Given the description of an element on the screen output the (x, y) to click on. 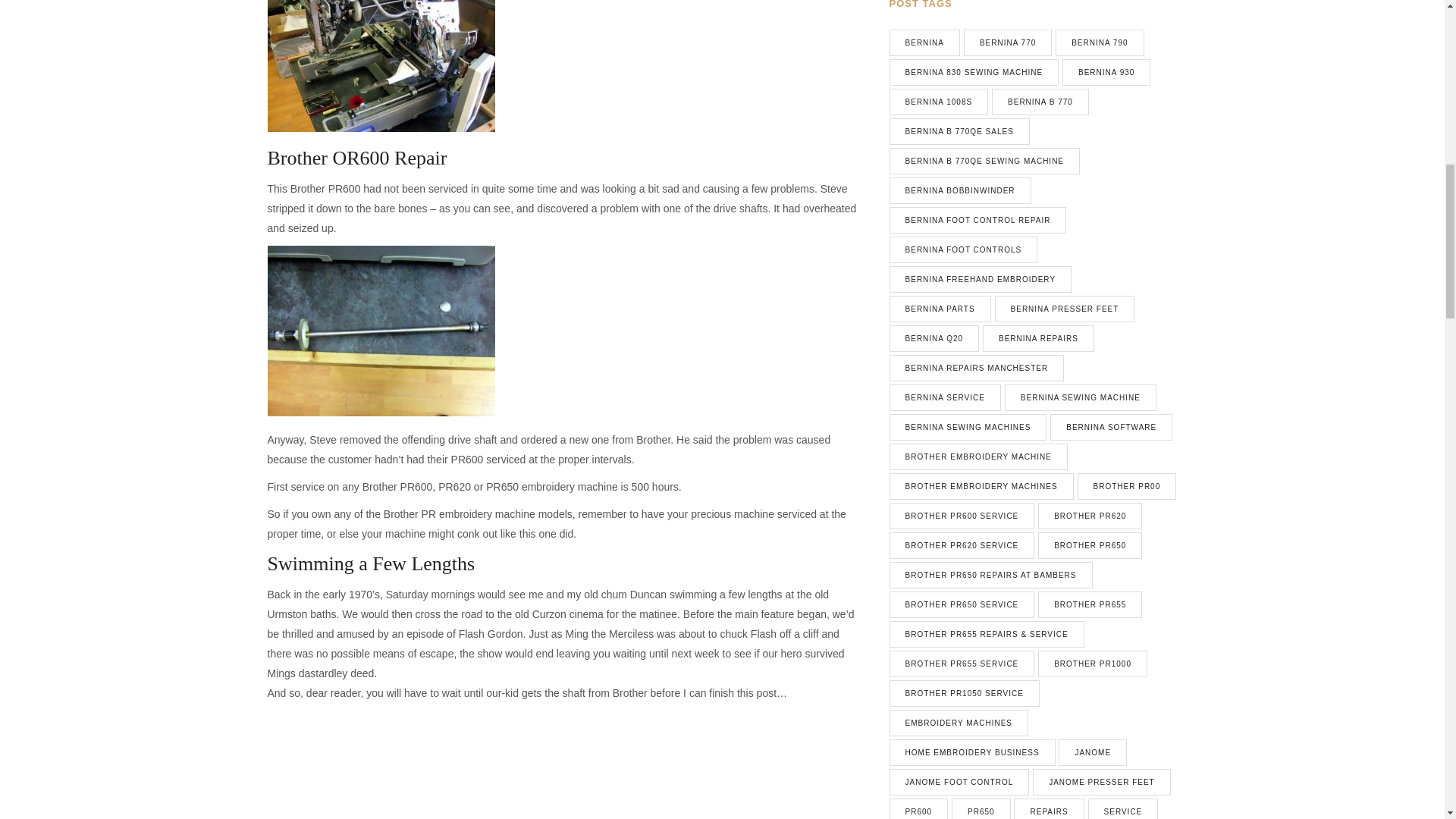
Brother PR600 drive shaft (380, 330)
Brother PR600 Repair and Service (380, 764)
PR600 stripped for repair (380, 65)
